Given the description of an element on the screen output the (x, y) to click on. 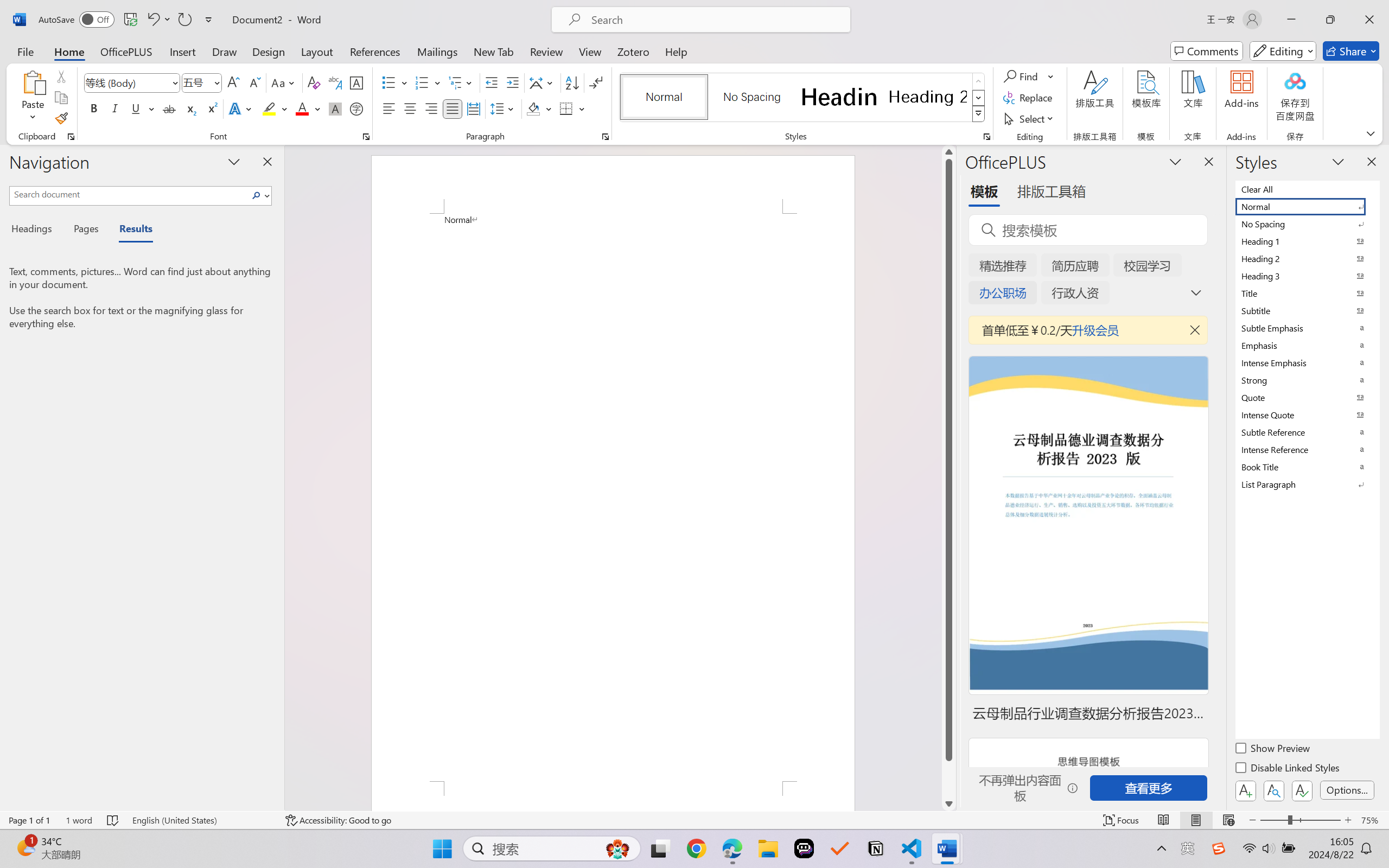
Underline (142, 108)
Paste (33, 81)
Office Clipboard... (70, 136)
Heading 3 (1306, 275)
Page Number Page 1 of 1 (29, 819)
Styles (978, 113)
Customize Quick Access Toolbar (208, 19)
Bullets (395, 82)
Disable Linked Styles (1287, 769)
More Options (1051, 75)
Text Highlight Color (274, 108)
Subscript (190, 108)
Zoom Out (1273, 819)
